Given the description of an element on the screen output the (x, y) to click on. 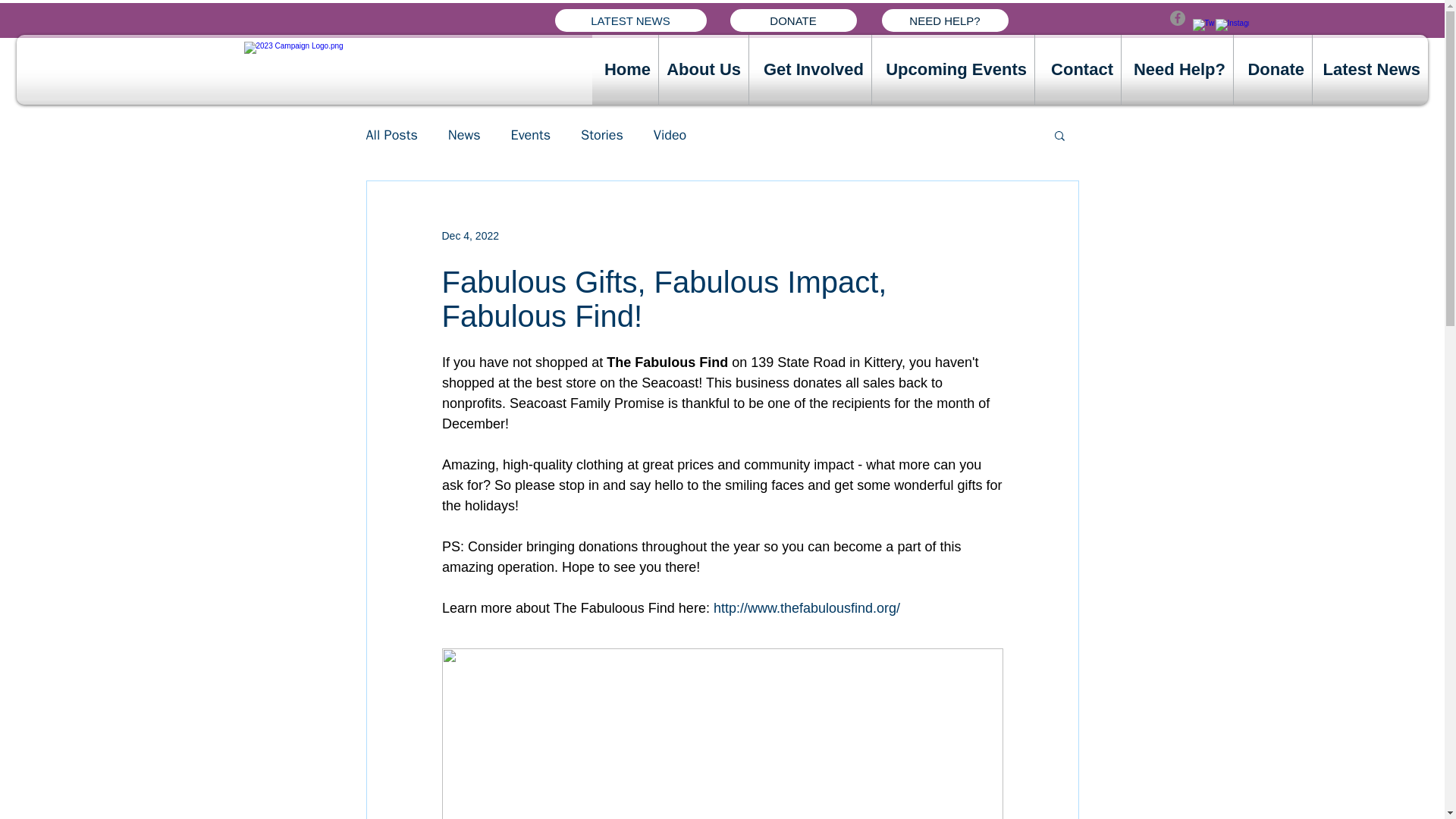
Upcoming Events (952, 69)
Home (625, 69)
About Us (703, 69)
Dec 4, 2022 (470, 234)
Video (670, 135)
Events (531, 135)
Latest News (1370, 69)
Contact (1078, 69)
News (464, 135)
NEED HELP? (943, 20)
Donate (1272, 69)
DONATE (792, 20)
LATEST NEWS (630, 20)
Stories (601, 135)
Get Involved (809, 69)
